Given the description of an element on the screen output the (x, y) to click on. 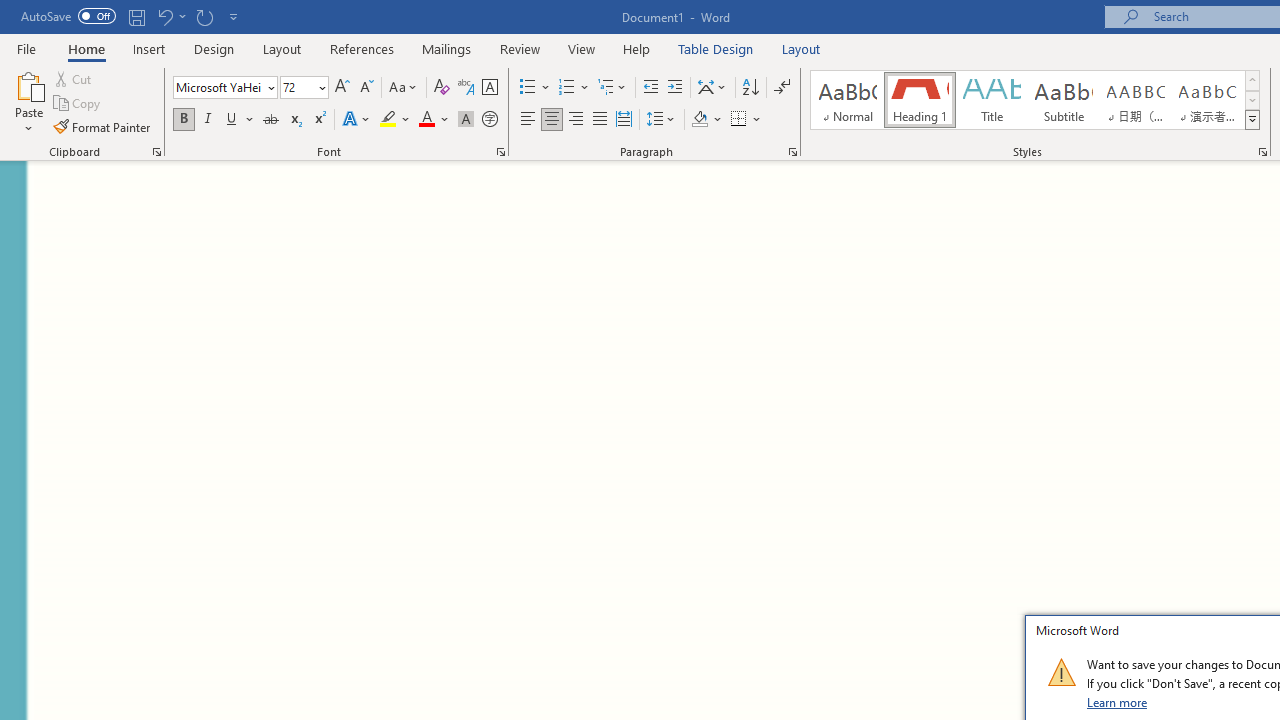
Character Shading (465, 119)
Undo Grow Font (164, 15)
Row up (1252, 79)
Shrink Font (365, 87)
Shading (706, 119)
Shading RGB(0, 0, 0) (699, 119)
Asian Layout (712, 87)
Align Left (527, 119)
